Given the description of an element on the screen output the (x, y) to click on. 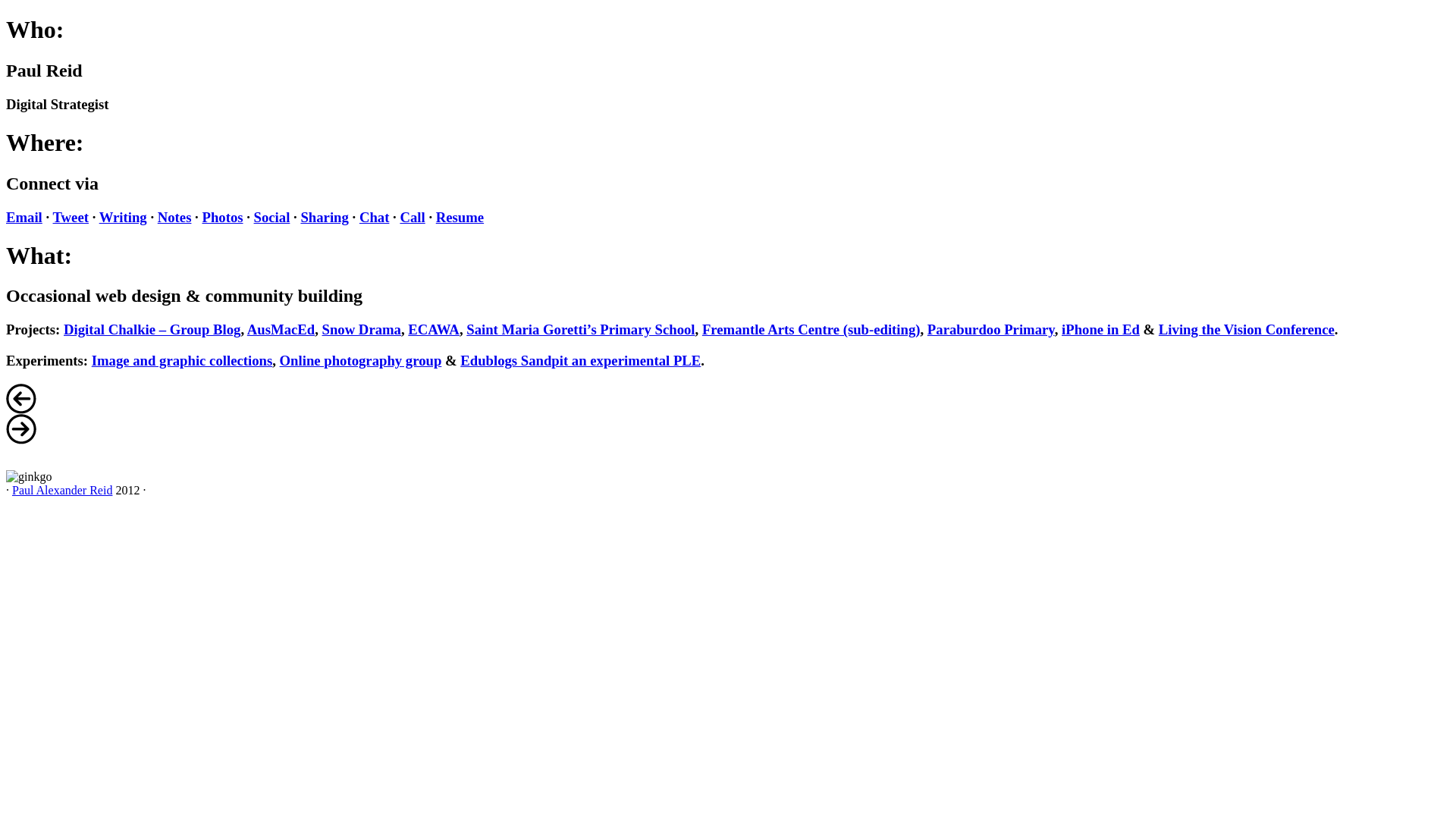
Chat Element type: text (374, 217)
Edublogs Sandpit an experimental PLE Element type: text (580, 360)
Social Element type: text (272, 217)
AusMacEd Element type: text (280, 329)
Email Element type: text (24, 217)
Call Element type: text (411, 217)
ECAWA Element type: text (433, 329)
Sharing Element type: text (324, 217)
Tweet Element type: text (70, 217)
Image and graphic collections Element type: text (181, 360)
Resume Element type: text (459, 217)
Snow Drama Element type: text (361, 329)
Fremantle Arts Centre (sub-editing) Element type: text (811, 329)
Paraburdoo Primary Element type: text (990, 329)
Notes Element type: text (174, 217)
Online photography group Element type: text (360, 360)
Paul Alexander Reid Element type: text (62, 489)
iPhone in Ed Element type: text (1100, 329)
Writing Element type: text (123, 217)
, Element type: text (275, 360)
Living the Vision Conference Element type: text (1246, 329)
Photos Element type: text (221, 217)
